Given the description of an element on the screen output the (x, y) to click on. 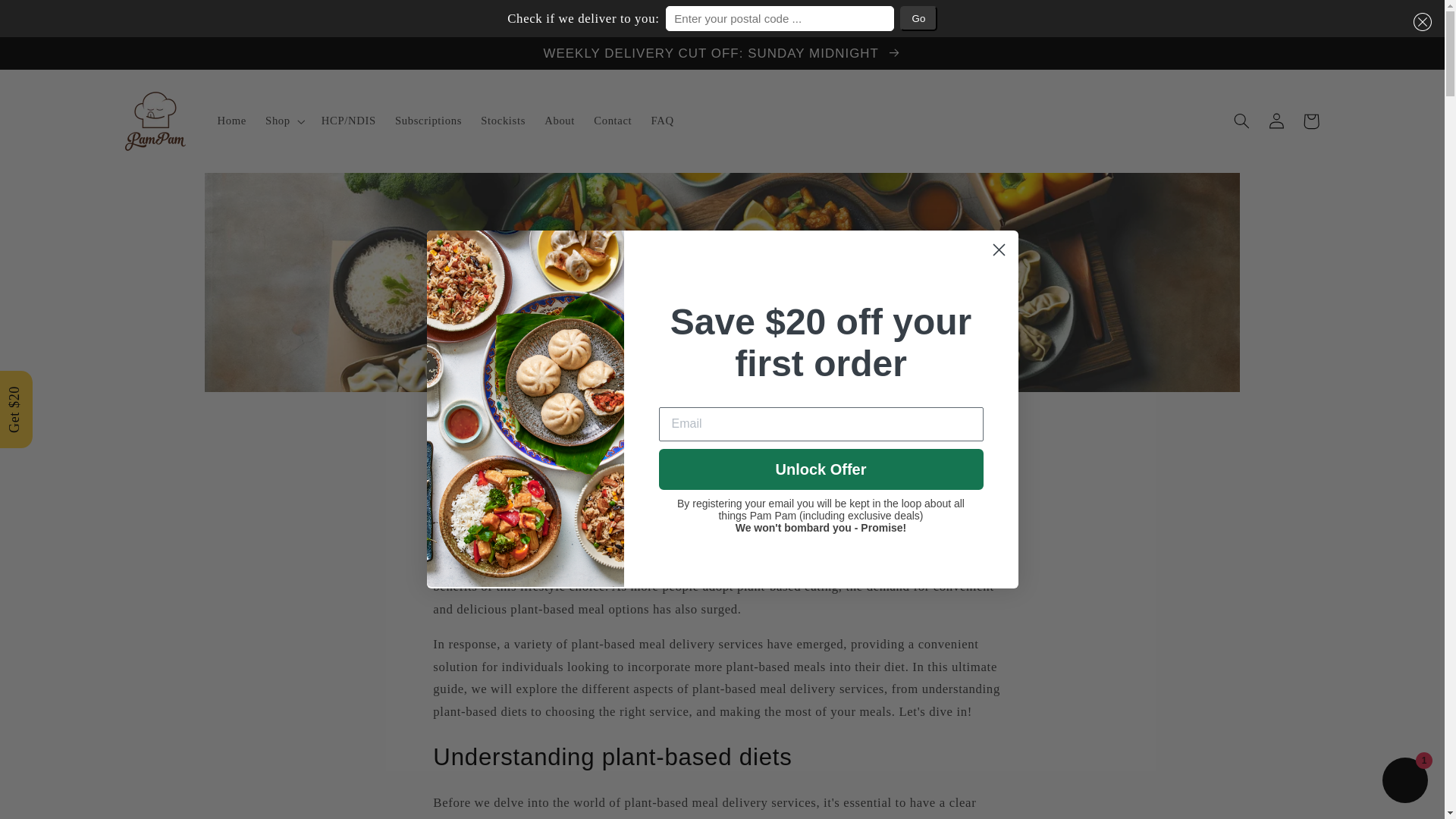
Log in (1276, 121)
Home (232, 121)
FAQ (662, 121)
Contact (613, 121)
Shopify online store chat (1404, 781)
About (560, 121)
Subscriptions (427, 121)
Stockists (503, 121)
Cart (1310, 121)
Skip to content (48, 54)
